Given the description of an element on the screen output the (x, y) to click on. 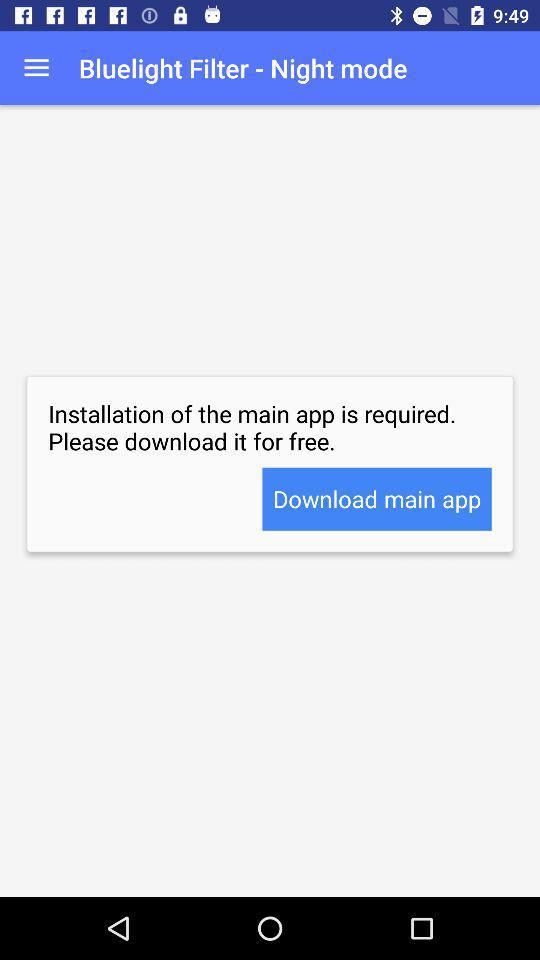
click icon at the top left corner (36, 68)
